Given the description of an element on the screen output the (x, y) to click on. 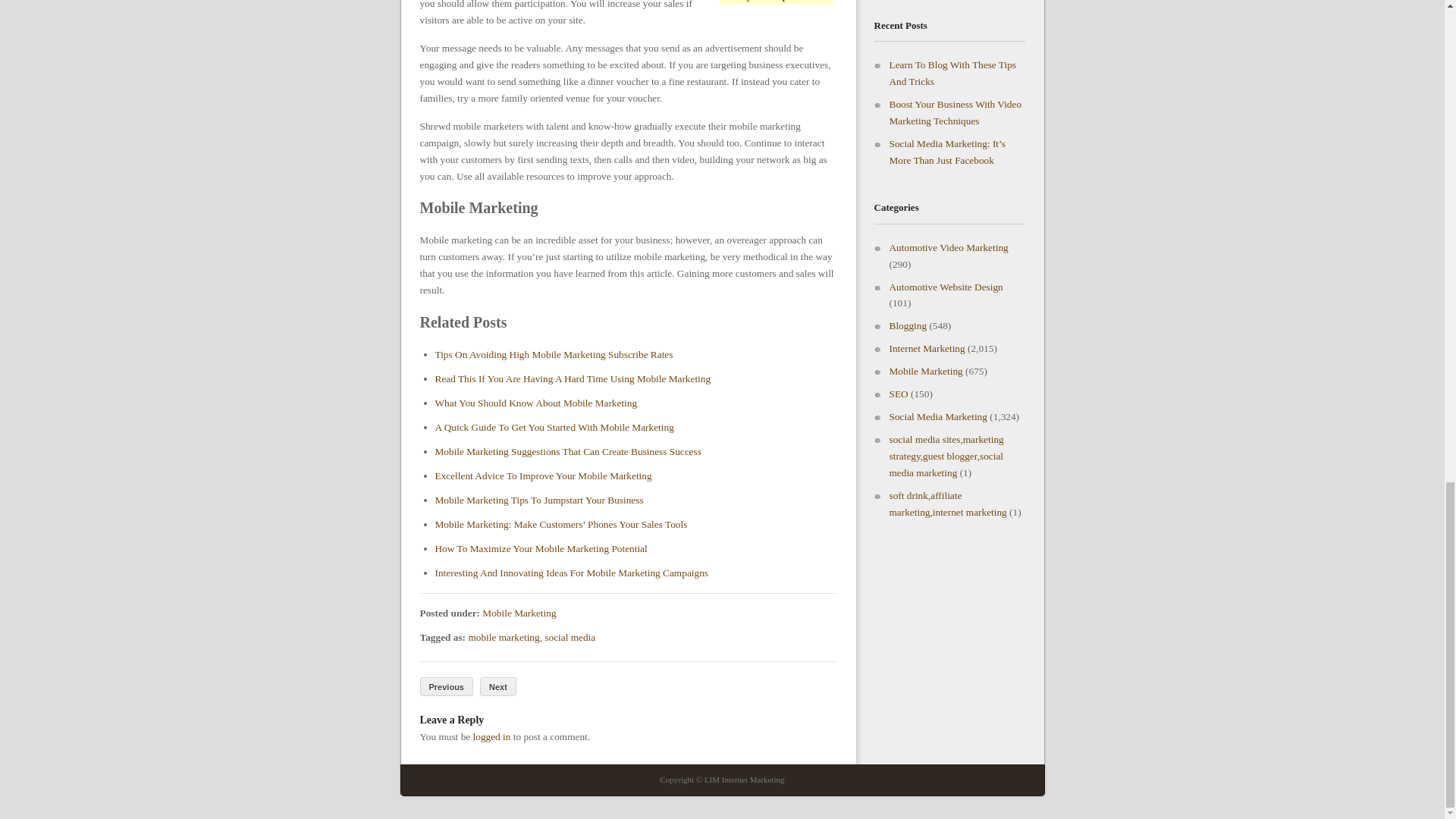
A Quick Guide To Get You Started With Mobile Marketing (554, 427)
logged in (492, 736)
Mobile Marketing Tips To Jumpstart Your Business (539, 500)
What You Should Know About Mobile Marketing (536, 402)
Tips On Avoiding High Mobile Marketing Subscribe Rates (553, 354)
How To Maximize Your Mobile Marketing Potential (541, 548)
Previous (446, 686)
Excellent Advice To Improve Your Mobile Marketing (543, 475)
How To Maximize Your Mobile Marketing Potential (541, 548)
Excellent Advice To Improve Your Mobile Marketing (543, 475)
A Quick Guide To Get You Started With Mobile Marketing (554, 427)
